Given the description of an element on the screen output the (x, y) to click on. 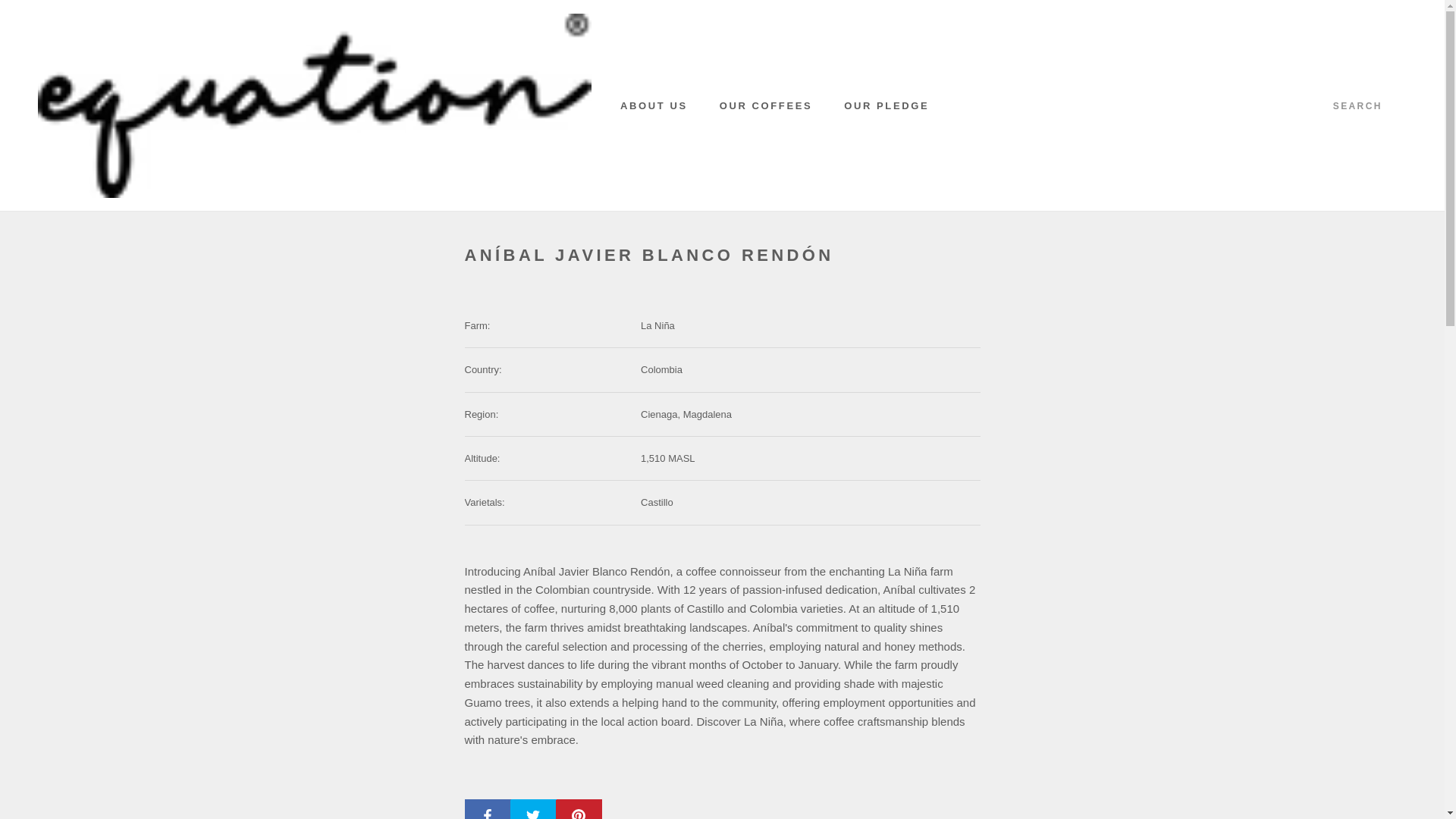
OUR PLEDGE (886, 105)
OUR COFFEES (765, 105)
ABOUT US (653, 105)
